Given the description of an element on the screen output the (x, y) to click on. 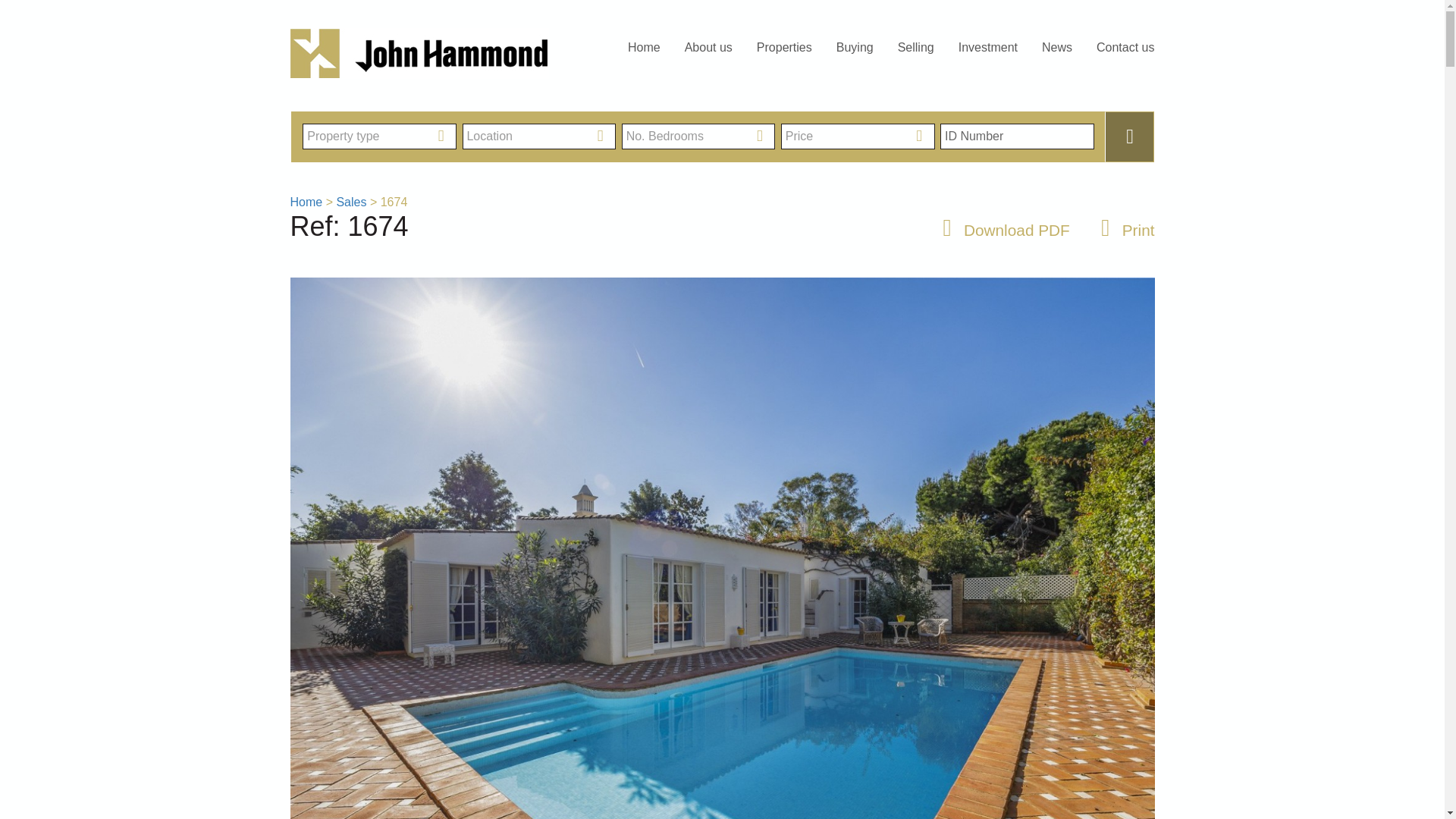
Print (1121, 230)
Home (649, 47)
Selling (915, 47)
Properties (784, 47)
About us (708, 47)
News (1056, 47)
Home (305, 201)
Contact us (1119, 47)
Investment (987, 47)
Download PDF (1000, 230)
